Given the description of an element on the screen output the (x, y) to click on. 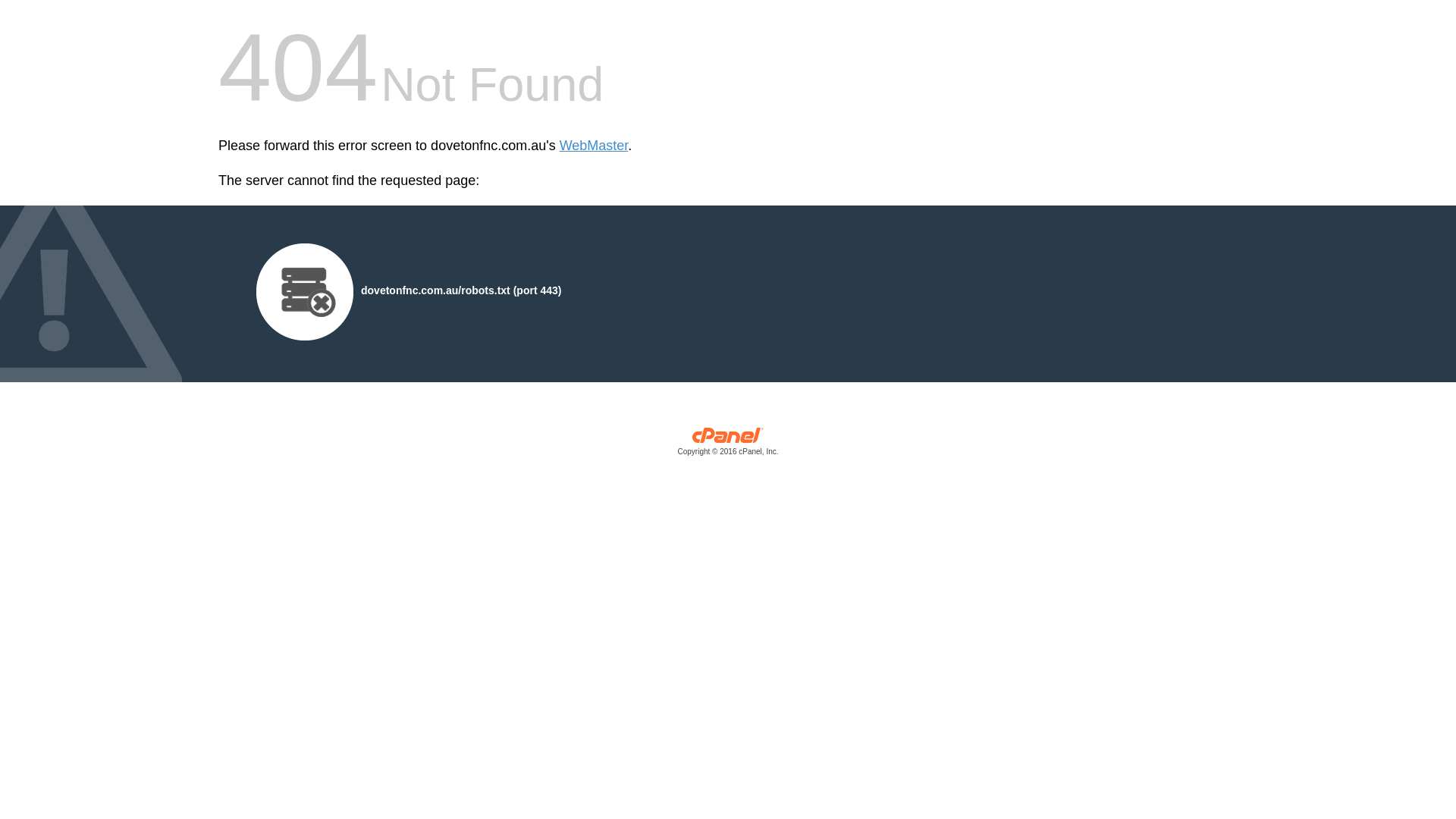
WebMaster Element type: text (593, 145)
